Given the description of an element on the screen output the (x, y) to click on. 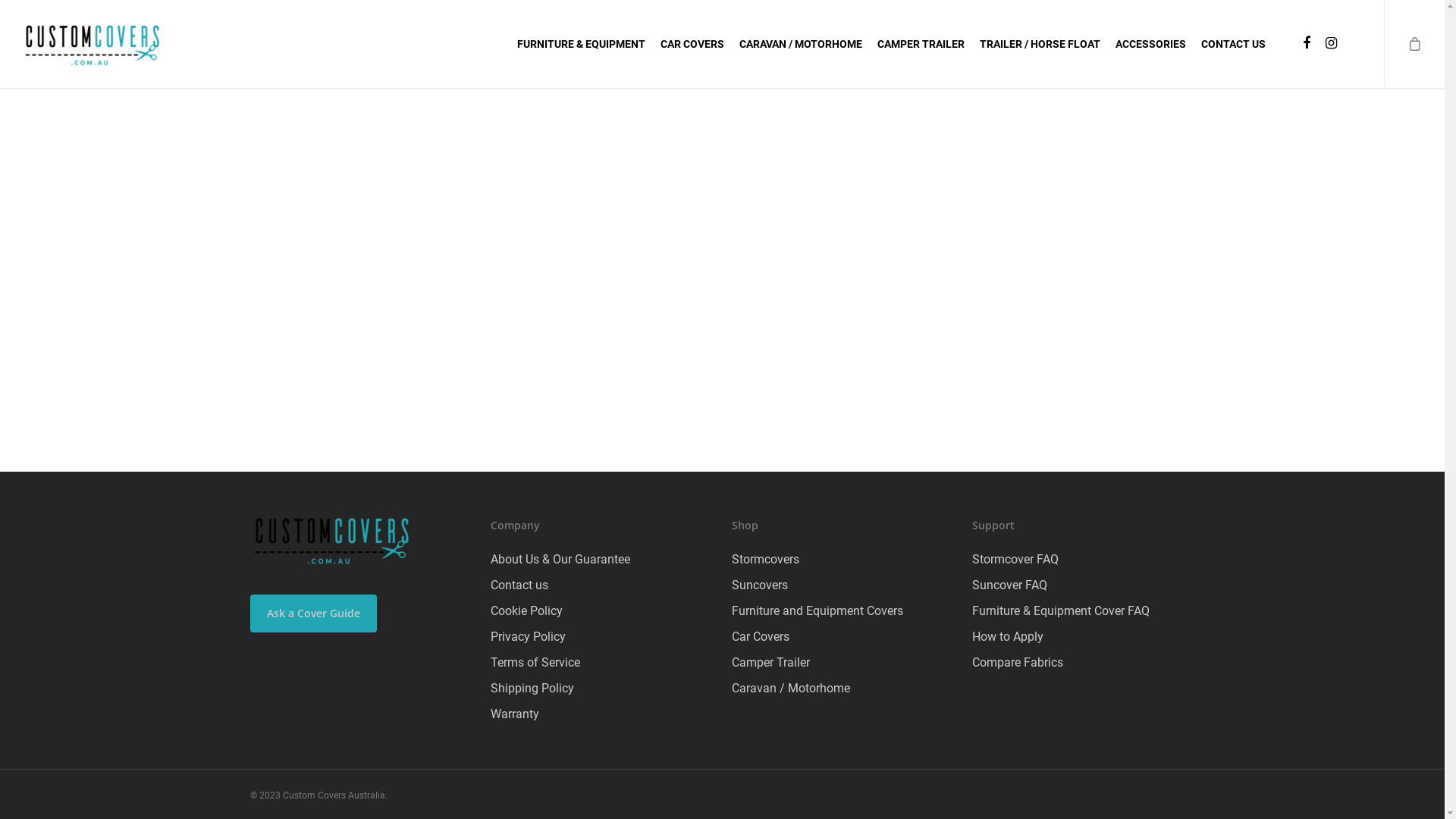
Cookie Policy Element type: text (601, 611)
Furniture & Equipment Cover FAQ Element type: text (1083, 611)
Contact us Element type: text (601, 585)
Camper Trailer Element type: text (842, 662)
Suncovers Element type: text (842, 585)
CARAVAN / MOTORHOME Element type: text (800, 43)
FURNITURE & EQUIPMENT Element type: text (581, 43)
Shipping Policy Element type: text (601, 688)
Suncover FAQ Element type: text (1083, 585)
How to Apply Element type: text (1083, 636)
Warranty Element type: text (601, 714)
Ask a Cover Guide Element type: text (313, 613)
TRAILER / HORSE FLOAT Element type: text (1039, 43)
Privacy Policy Element type: text (601, 636)
ACCESSORIES Element type: text (1150, 43)
Car Covers Element type: text (842, 636)
CAMPER TRAILER Element type: text (920, 43)
Furniture and Equipment Covers Element type: text (842, 611)
About Us & Our Guarantee Element type: text (601, 559)
Stormcover FAQ Element type: text (1083, 559)
CONTACT US Element type: text (1233, 43)
CAR COVERS Element type: text (692, 43)
Compare Fabrics Element type: text (1083, 662)
Terms of Service Element type: text (601, 662)
Stormcovers Element type: text (842, 559)
Caravan / Motorhome Element type: text (842, 688)
